Given the description of an element on the screen output the (x, y) to click on. 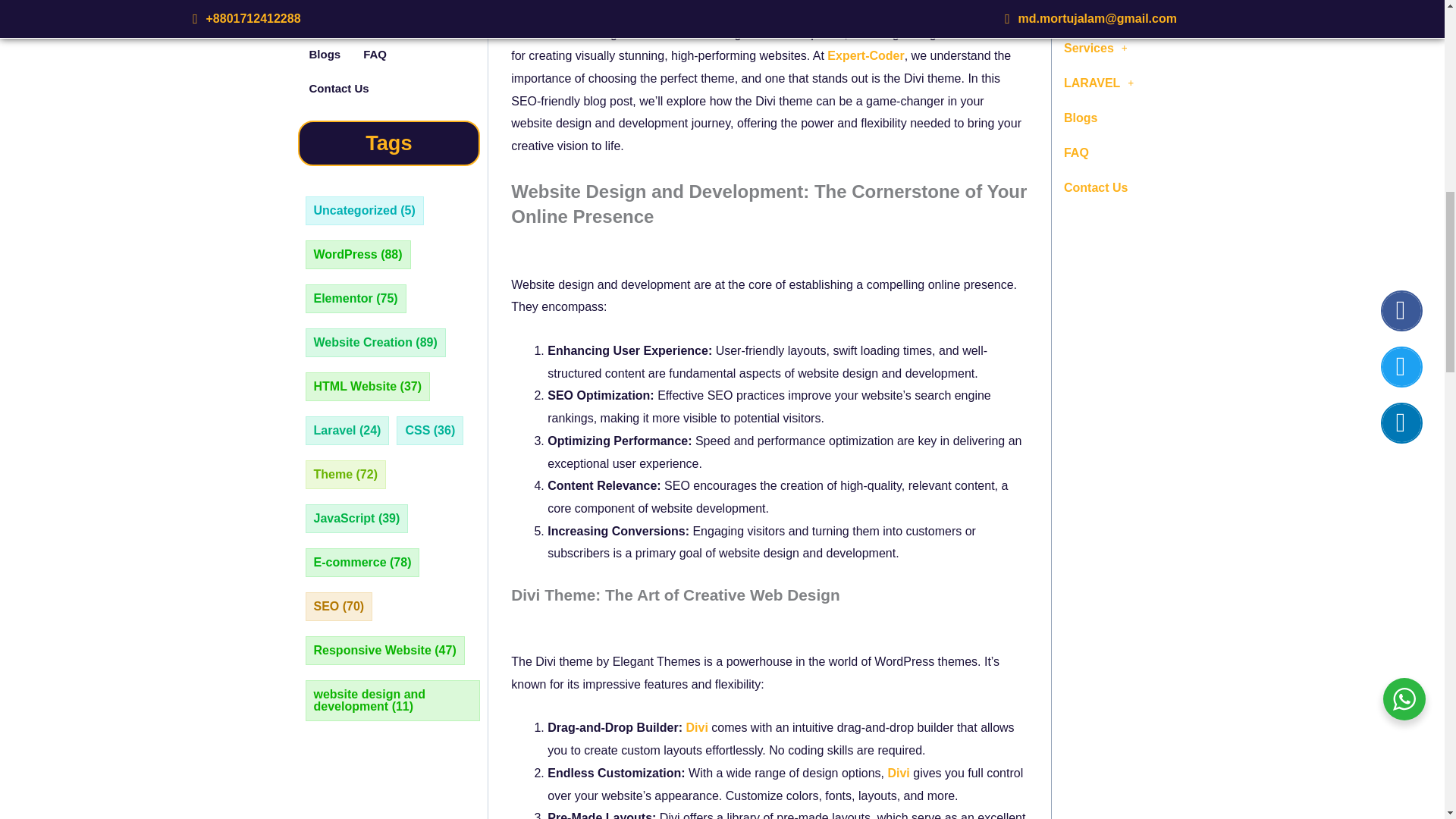
E-commerce (363, 562)
Website Creation (376, 342)
Uncategorized (364, 210)
Laravel (347, 430)
CSS (429, 430)
HTML Website (368, 386)
WordPress (358, 254)
Elementor (355, 298)
SEO (339, 606)
Services (337, 19)
Theme (345, 474)
Portfolio (418, 1)
Company (339, 1)
JavaScript (357, 518)
